Given the description of an element on the screen output the (x, y) to click on. 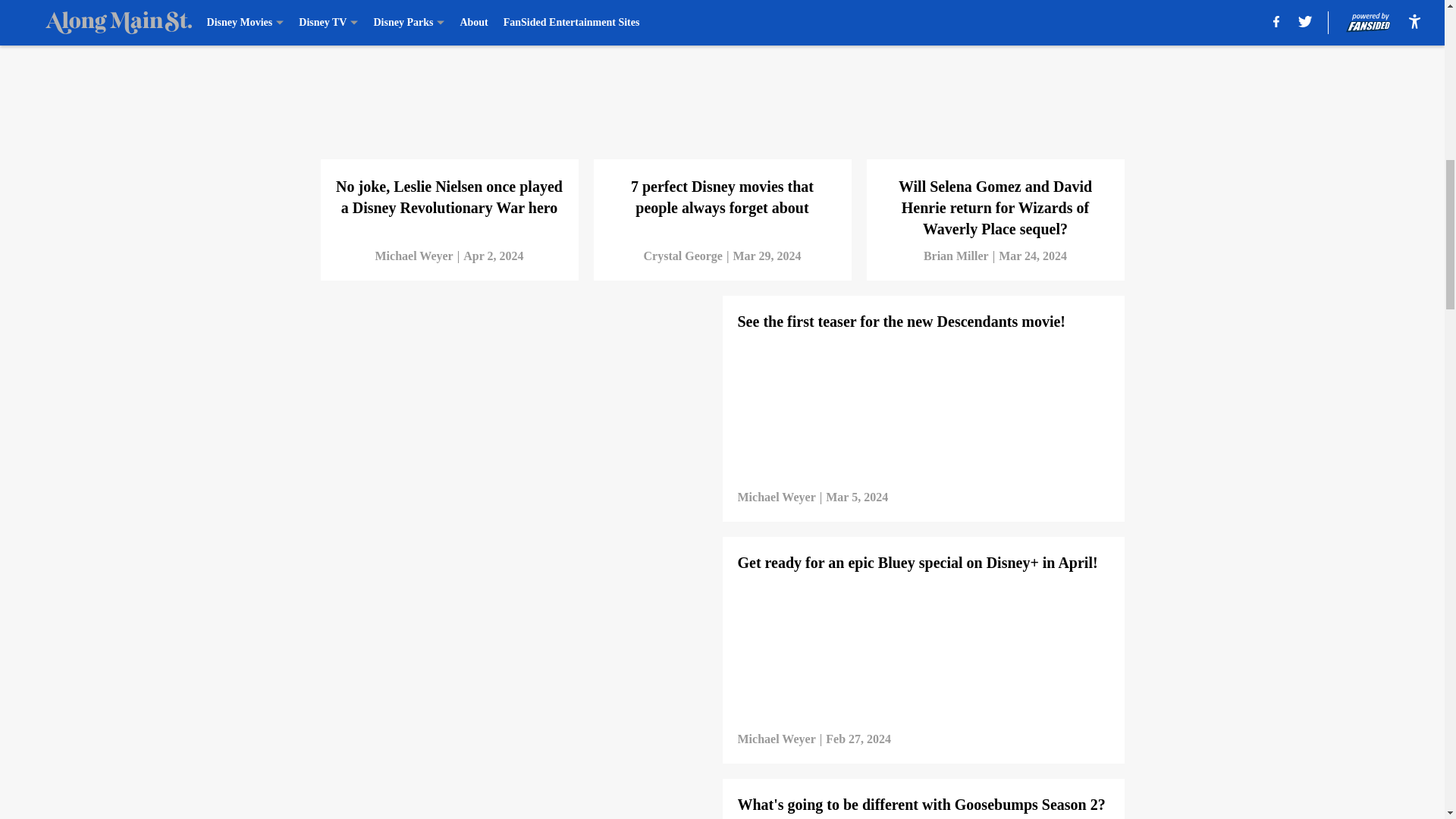
Michael Weyer (413, 256)
7 perfect Disney movies that people always forget about (721, 147)
